Given the description of an element on the screen output the (x, y) to click on. 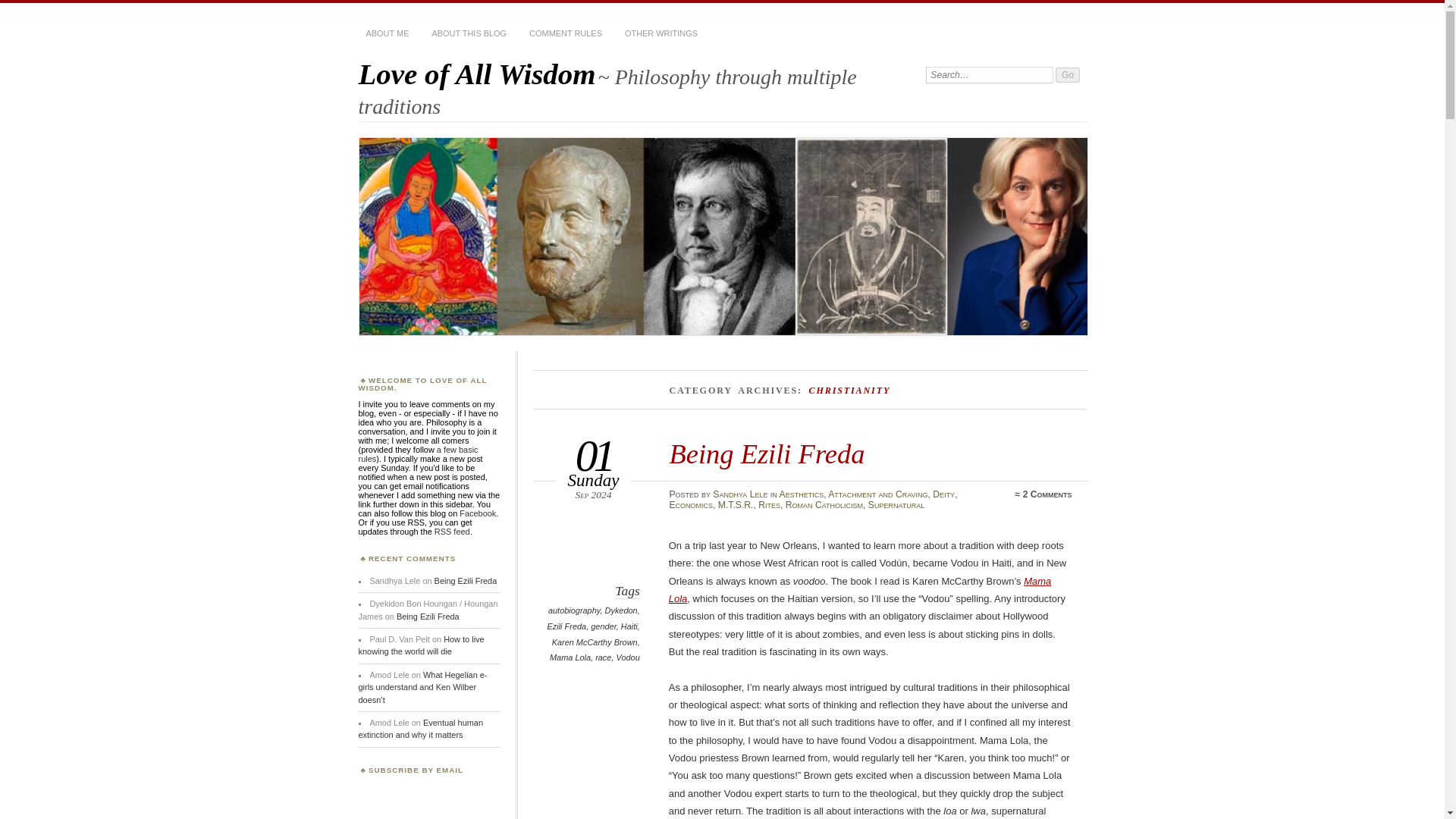
Love of All Wisdom (476, 73)
ABOUT ME (387, 33)
gender (603, 625)
Karen McCarthy Brown (594, 642)
Economics (690, 504)
View all posts by Sandhya Lele (740, 493)
2 Comments (1047, 493)
Aesthetics (801, 493)
Being Ezili Freda (766, 453)
Roman Catholicism (824, 504)
